Given the description of an element on the screen output the (x, y) to click on. 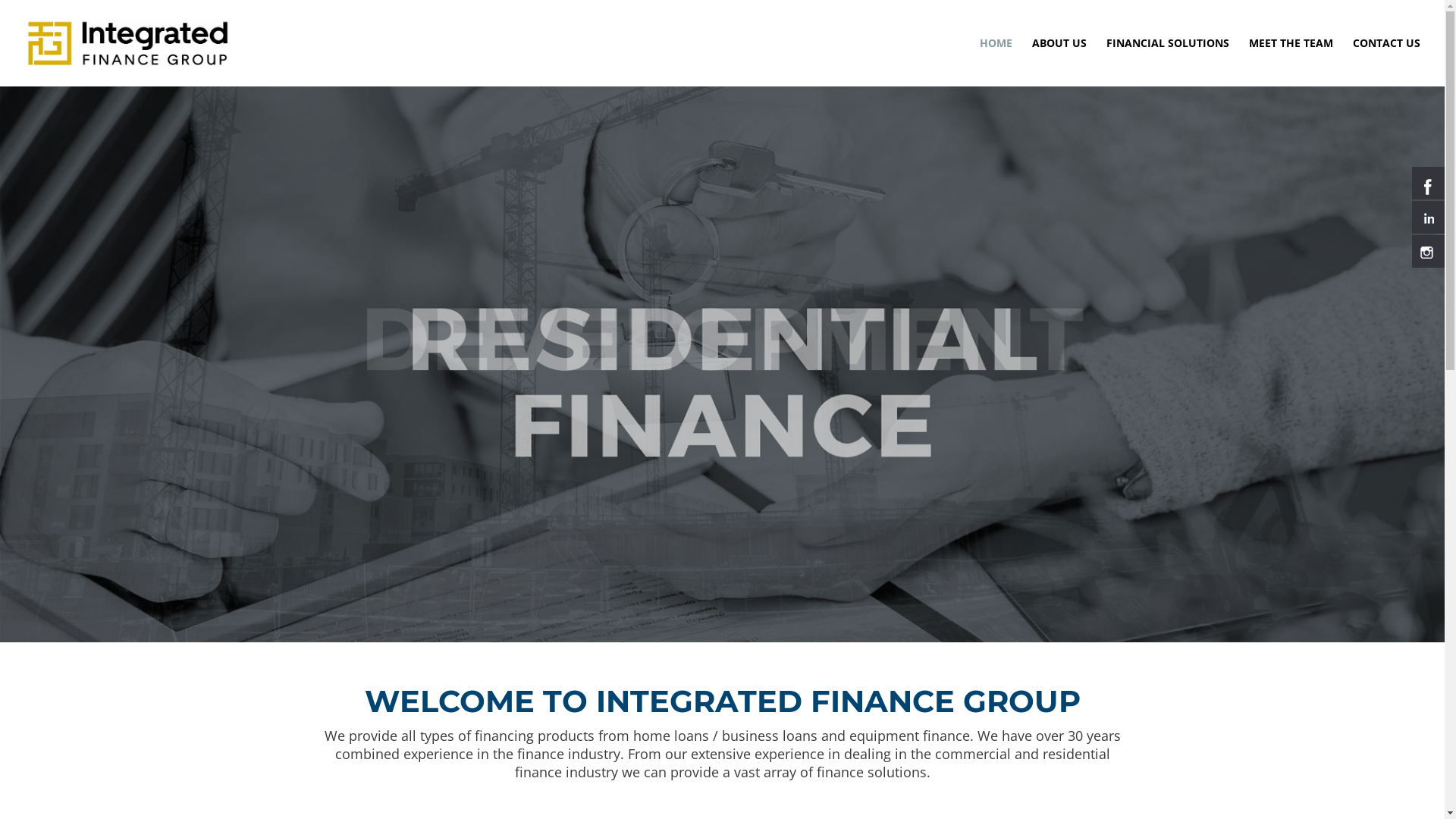
MEET THE TEAM Element type: text (1290, 61)
ABOUT US Element type: text (1059, 61)
FINANCIAL SOLUTIONS Element type: text (1167, 61)
HOME Element type: text (995, 61)
CONTACT US Element type: text (1386, 61)
